Given the description of an element on the screen output the (x, y) to click on. 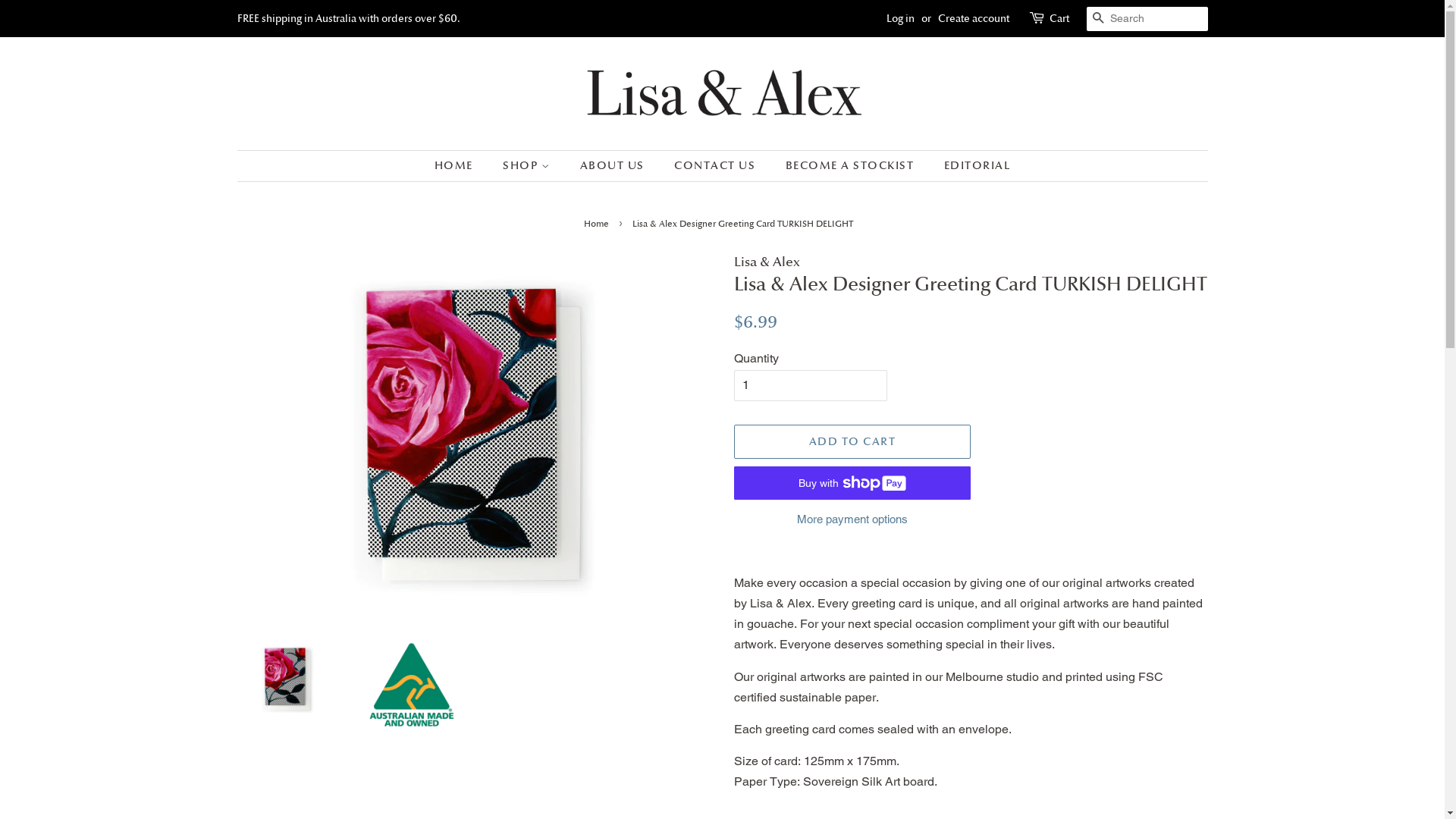
ABOUT US Element type: text (613, 165)
CONTACT US Element type: text (716, 165)
Home Element type: text (597, 223)
ADD TO CART Element type: text (852, 441)
More payment options Element type: text (852, 518)
SEARCH Element type: text (1097, 18)
Cart Element type: text (1059, 18)
SHOP Element type: text (527, 165)
Create account Element type: text (972, 18)
FREE shipping in Australia with orders over $60. Element type: text (347, 18)
BECOME A STOCKIST Element type: text (851, 165)
EDITORIAL Element type: text (971, 165)
Log in Element type: text (899, 18)
HOME Element type: text (461, 165)
